Given the description of an element on the screen output the (x, y) to click on. 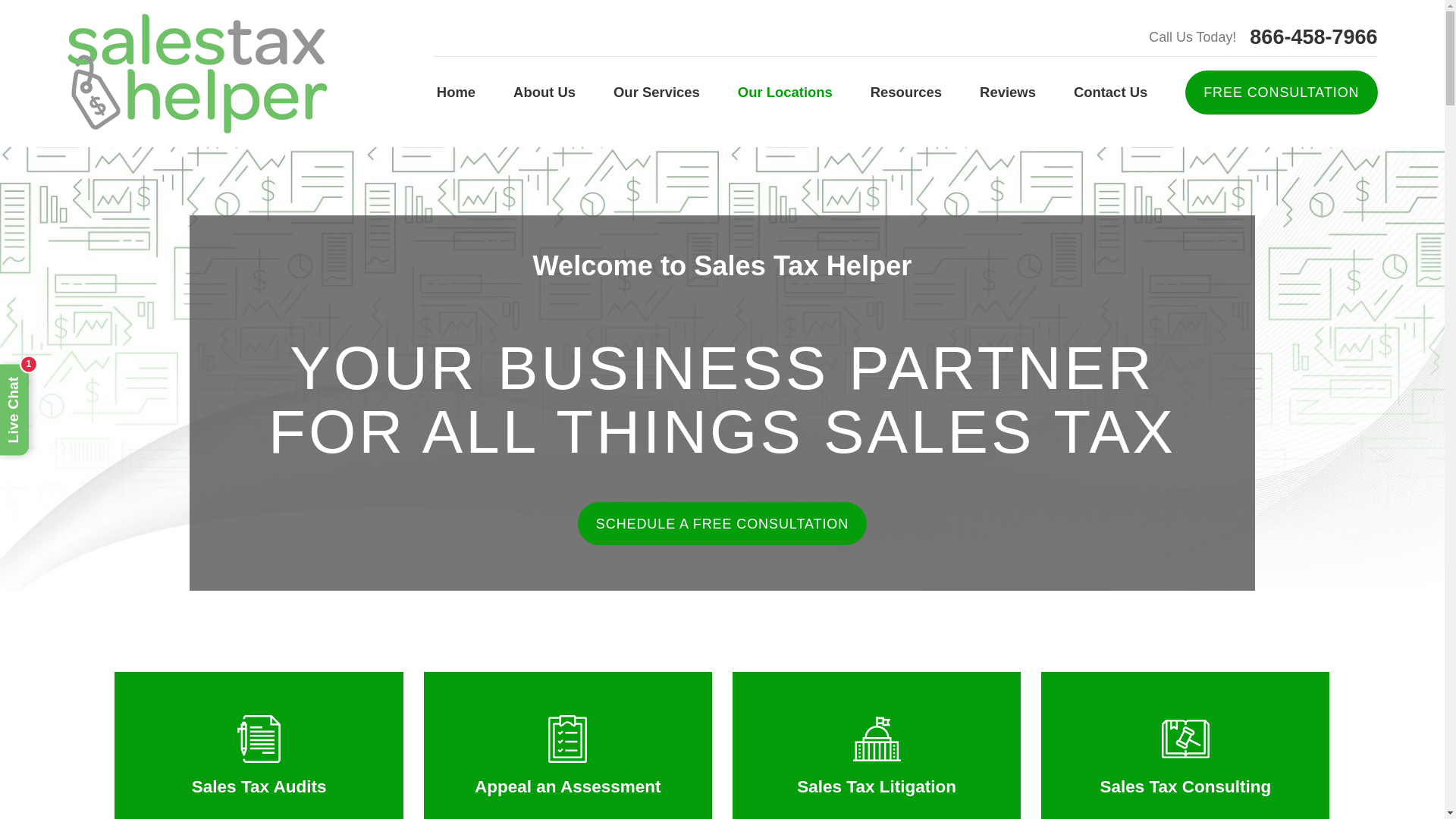
866-458-7966 (1313, 37)
Our Services (656, 92)
Home (196, 73)
About Us (544, 92)
Our Locations (785, 92)
Sales Tax Helper LLC (196, 73)
